Given the description of an element on the screen output the (x, y) to click on. 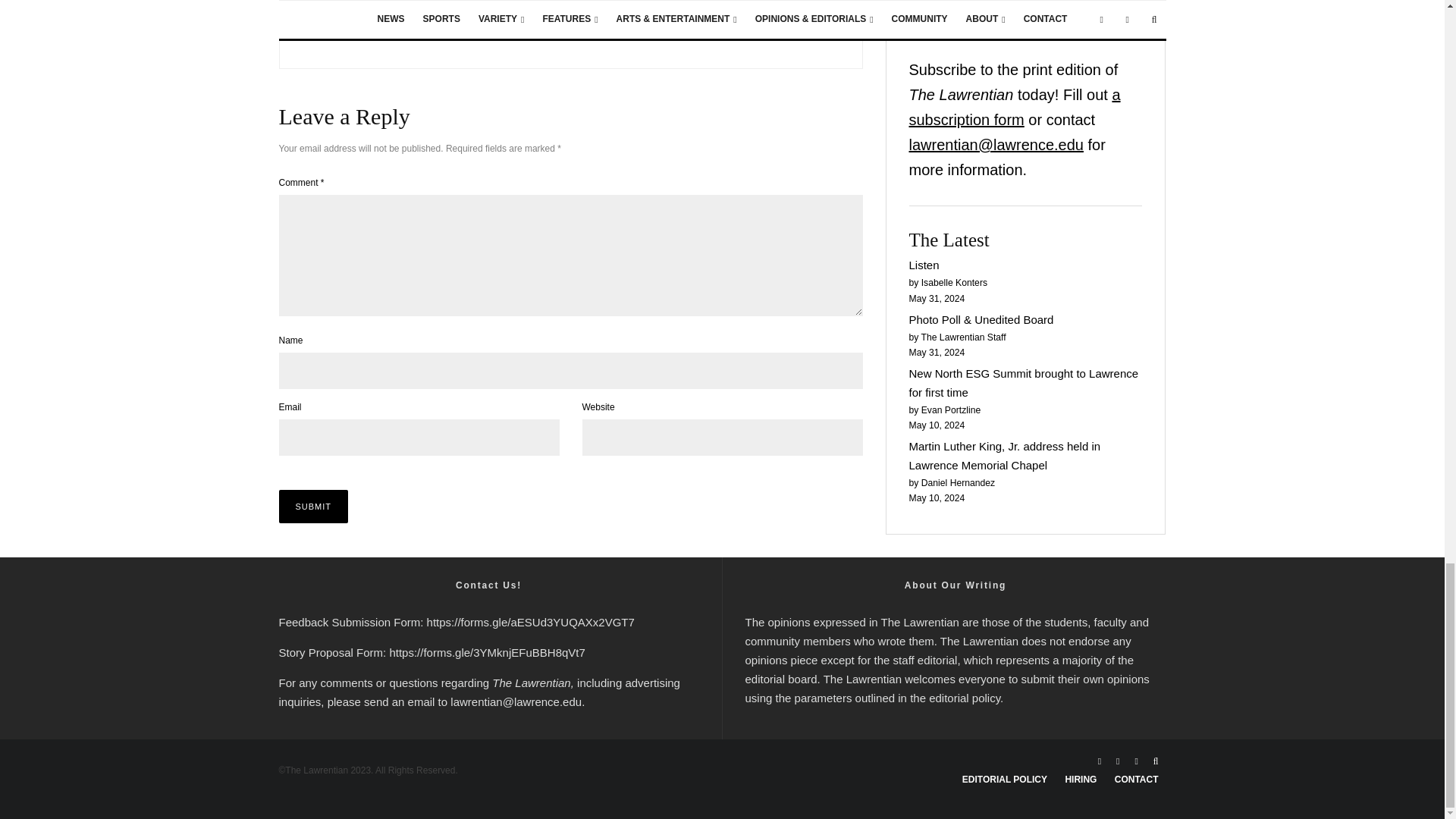
Page 11 (955, 660)
Submit (314, 506)
